Given the description of an element on the screen output the (x, y) to click on. 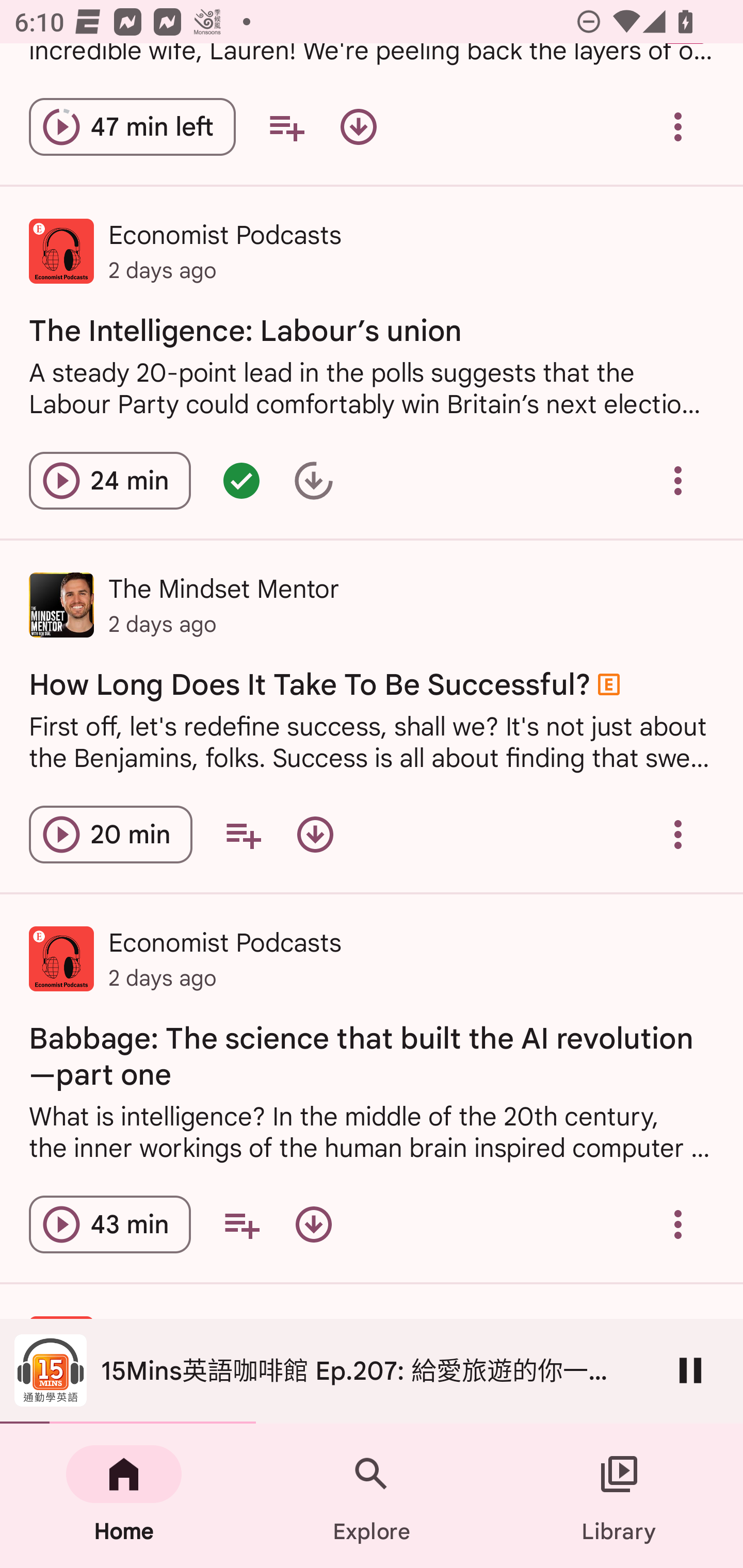
Play episode Meet My Wife 47 min left (131, 126)
Add to your queue (286, 126)
Download episode (358, 126)
Overflow menu (677, 126)
Episode queued - double tap for options (241, 480)
Queued to download - double tap for options (313, 480)
Overflow menu (677, 480)
Add to your queue (242, 834)
Download episode (315, 834)
Overflow menu (677, 834)
Add to your queue (241, 1224)
Download episode (313, 1224)
Overflow menu (677, 1224)
Pause (690, 1370)
Explore (371, 1495)
Library (619, 1495)
